Given the description of an element on the screen output the (x, y) to click on. 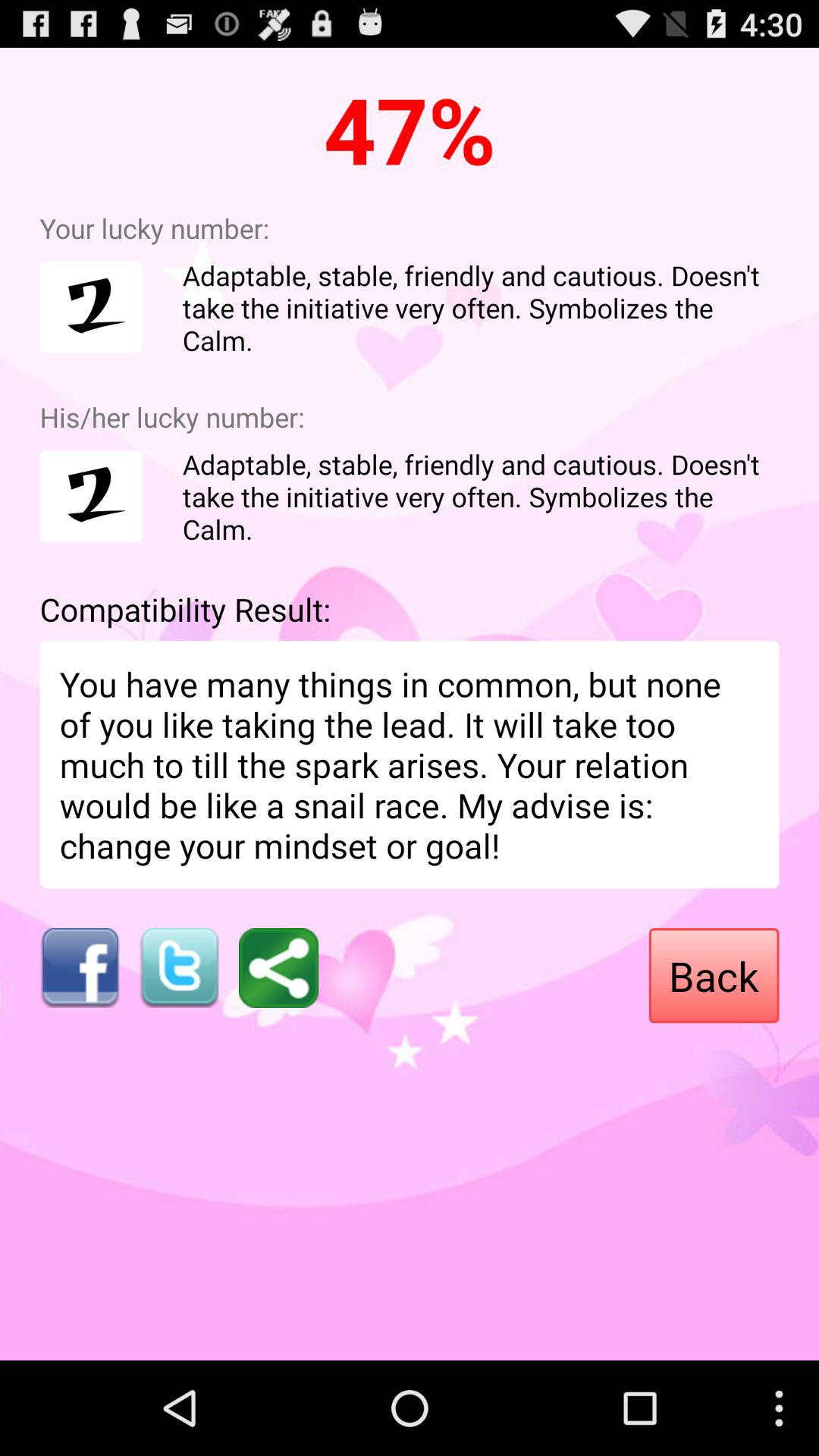
turn on the icon below the you have many app (79, 967)
